Given the description of an element on the screen output the (x, y) to click on. 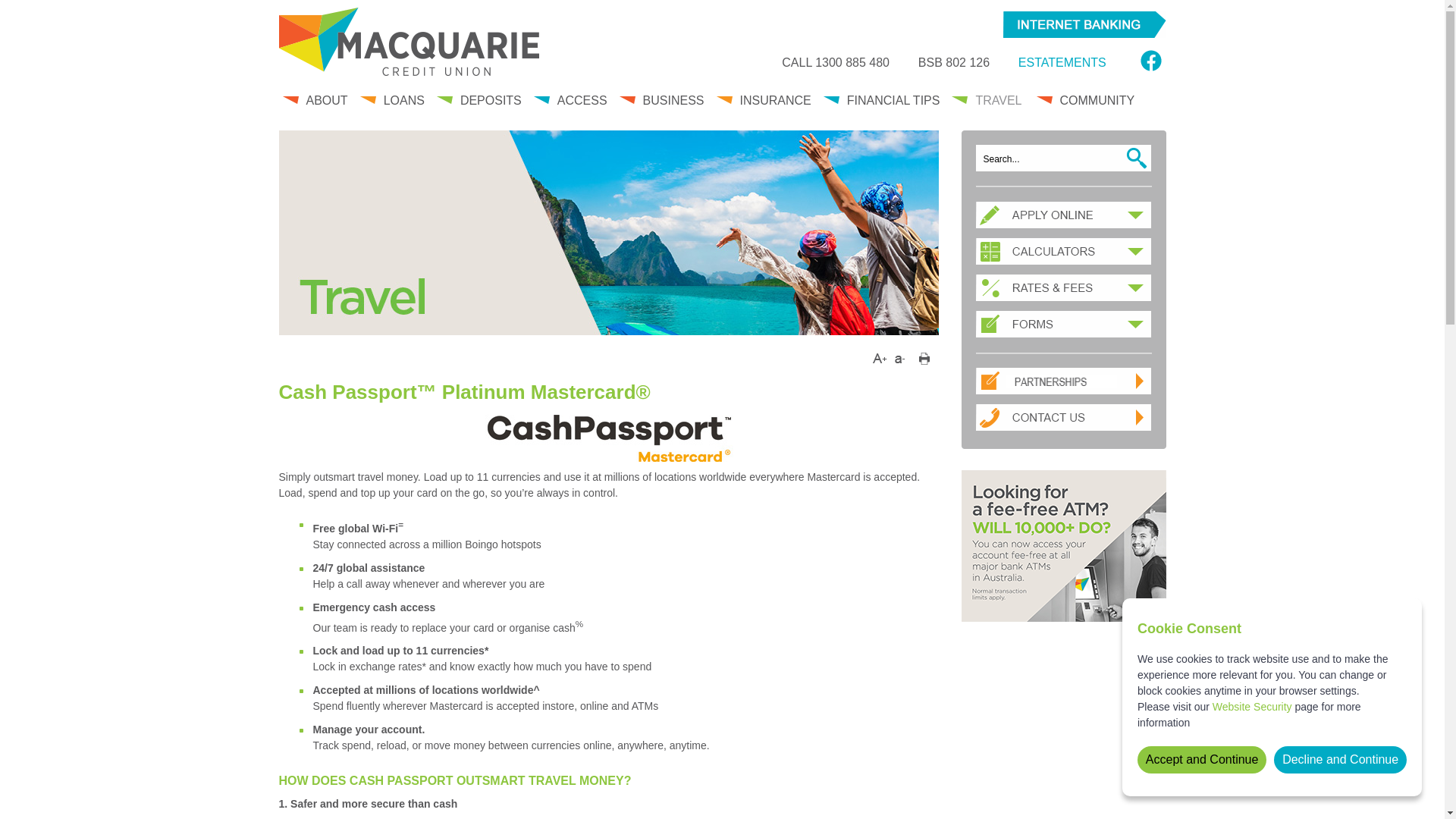
TRAVEL Element type: text (989, 106)
DEPOSITS Element type: text (480, 107)
COMMUNITY Element type: text (1086, 107)
ABOUT Element type: text (315, 107)
Increase font size Element type: hover (879, 356)
LOANS Element type: text (393, 107)
INSURANCE Element type: text (764, 107)
Decrease font size Element type: hover (900, 356)
ACCESS Element type: text (572, 107)
Website Security Element type: text (1252, 706)
Decrease Size Element type: hover (900, 357)
ESTATEMENTS Element type: text (1062, 62)
Decline and Continue Element type: text (1340, 759)
Accept and Continue Element type: text (1201, 759)
BUSINESS Element type: text (663, 107)
Print Element type: hover (923, 360)
FINANCIAL TIPS Element type: text (883, 107)
